Given the description of an element on the screen output the (x, y) to click on. 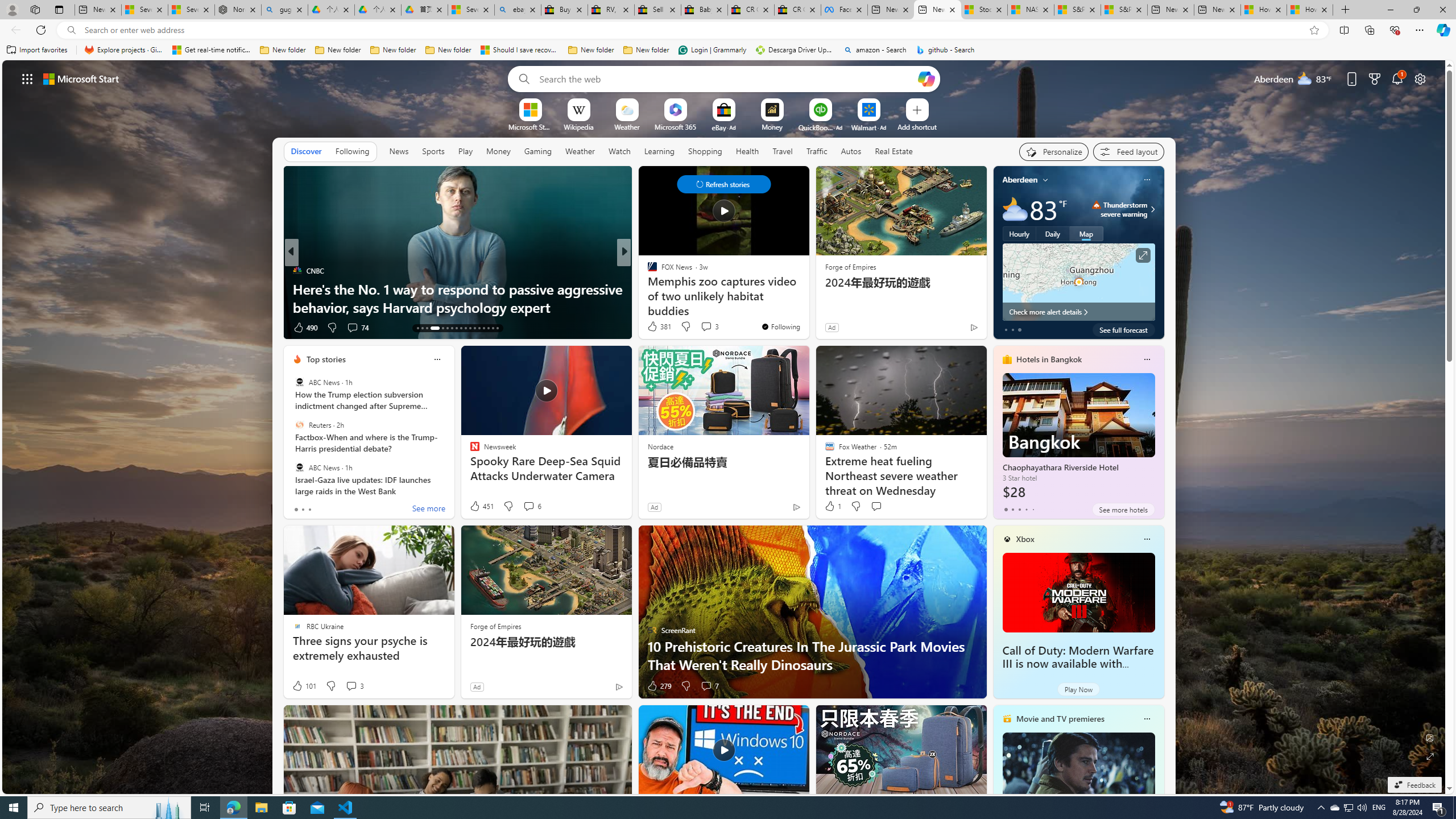
Watch (619, 151)
Dislike (685, 685)
Health (746, 151)
RV, Trailer & Camper Steps & Ladders for sale | eBay (610, 9)
Daily (1052, 233)
News (398, 151)
AutomationID: tab-25 (478, 328)
View comments 4 Comment (705, 327)
AutomationID: backgroundImagePicture (723, 426)
Weather (579, 151)
